Given the description of an element on the screen output the (x, y) to click on. 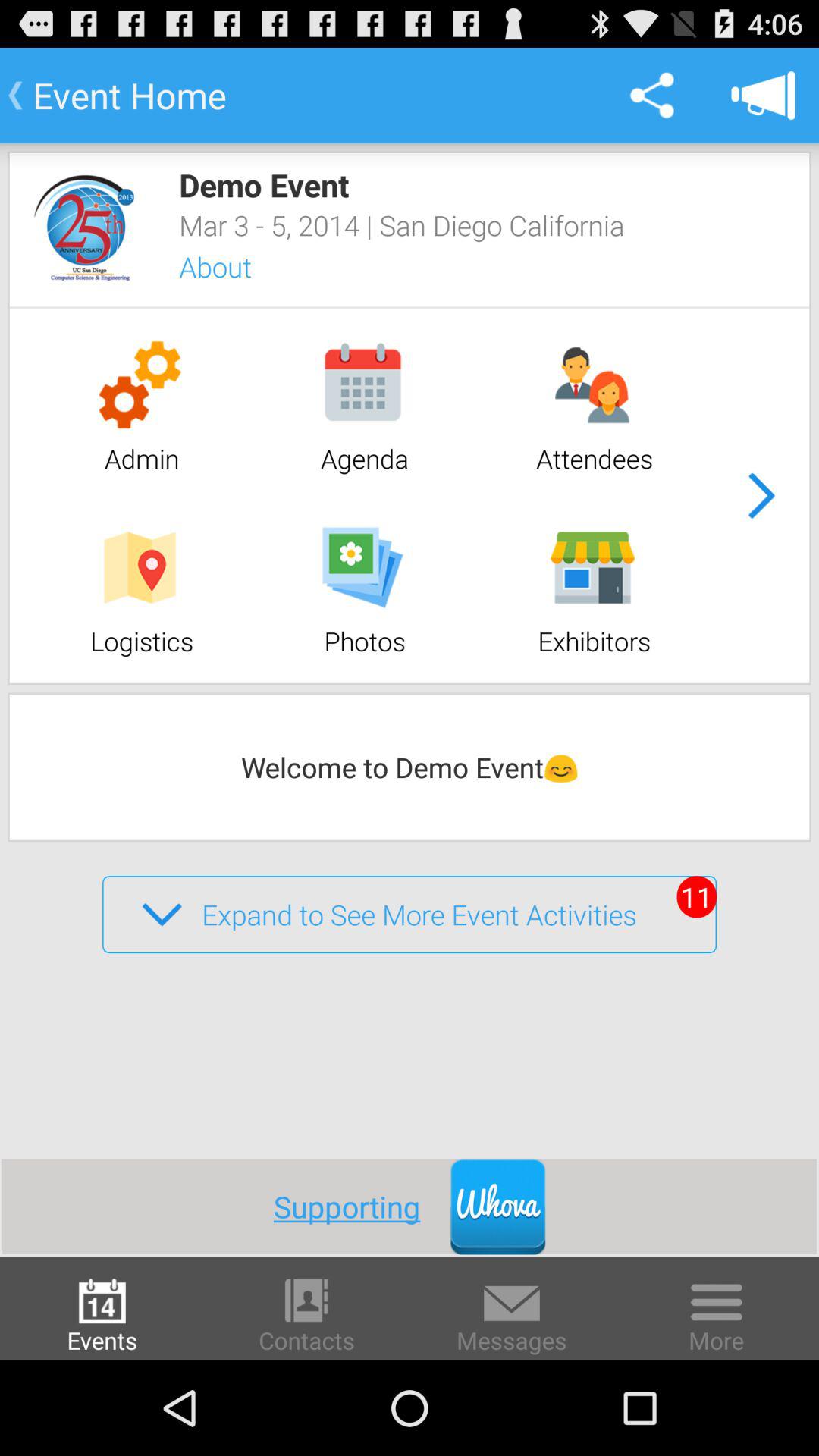
press item above demo event item (763, 95)
